Given the description of an element on the screen output the (x, y) to click on. 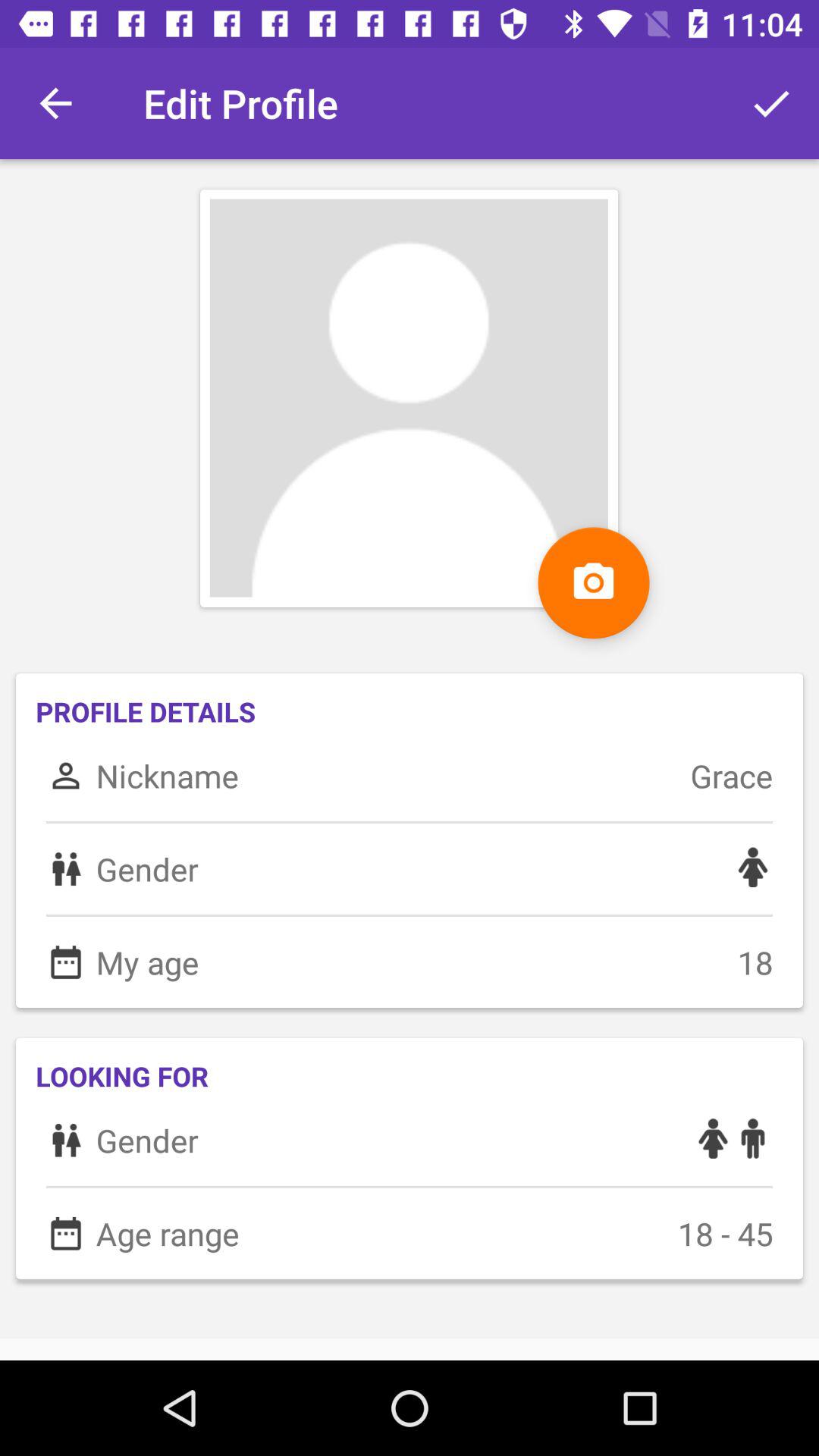
open the icon next to the edit profile item (55, 103)
